Given the description of an element on the screen output the (x, y) to click on. 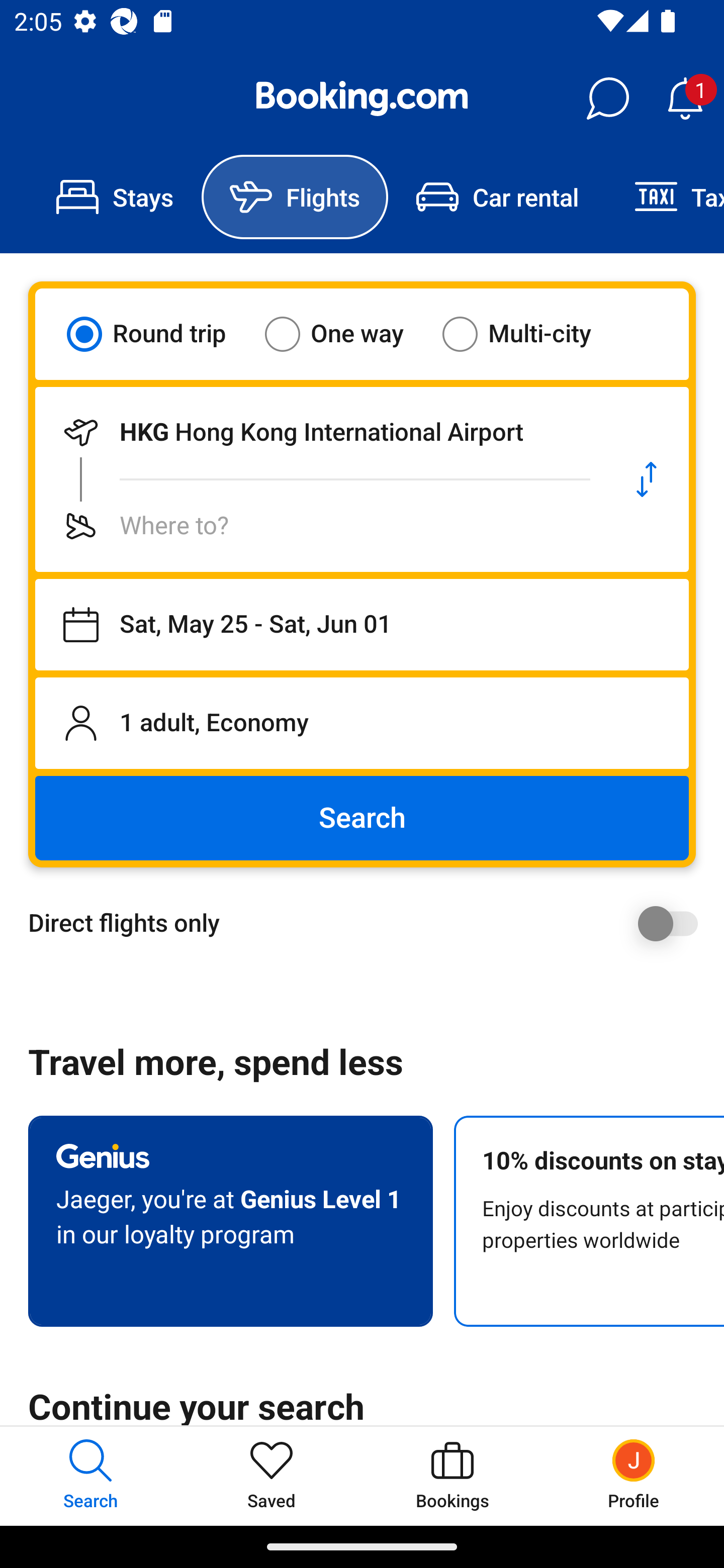
Messages (607, 98)
Notifications (685, 98)
Stays (114, 197)
Flights (294, 197)
Car rental (497, 197)
Taxi (665, 197)
One way (346, 333)
Multi-city (528, 333)
Departing from HKG Hong Kong International Airport (319, 432)
Swap departure location and destination (646, 479)
Flying to  (319, 525)
Departing on Sat, May 25, returning on Sat, Jun 01 (361, 624)
1 adult, Economy (361, 722)
Search (361, 818)
Direct flights only (369, 923)
Saved (271, 1475)
Bookings (452, 1475)
Profile (633, 1475)
